Given the description of an element on the screen output the (x, y) to click on. 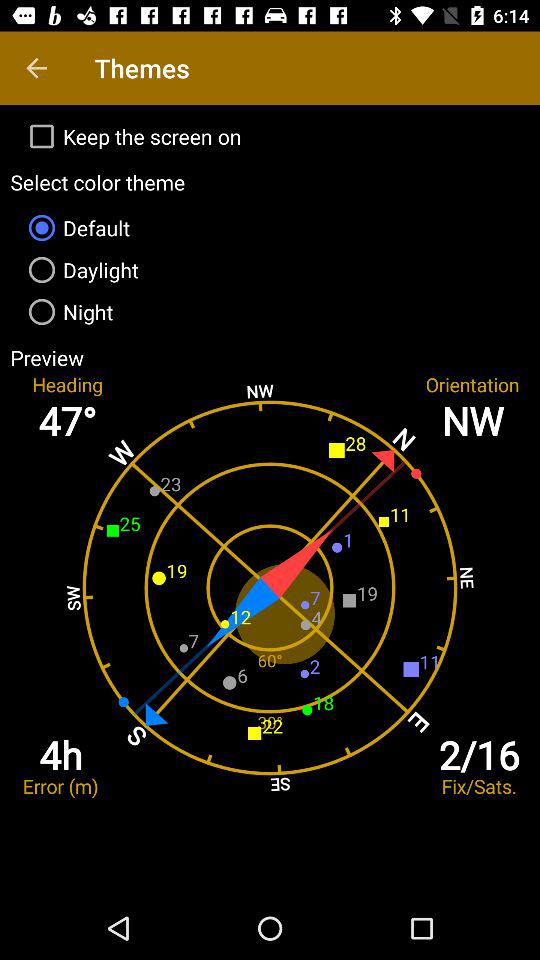
turn on the default (270, 228)
